Given the description of an element on the screen output the (x, y) to click on. 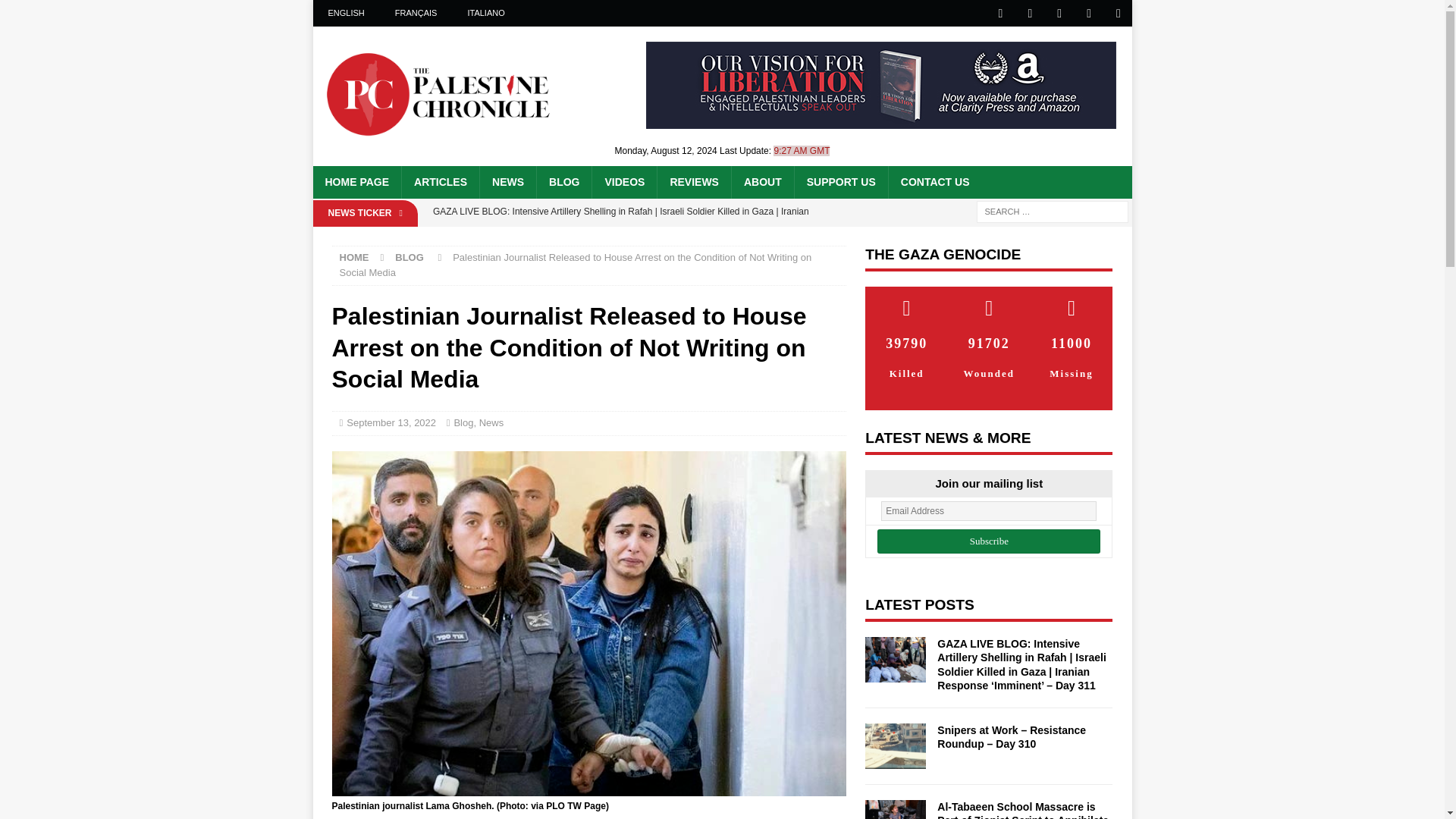
ARTICLES (440, 182)
HOME PAGE (357, 182)
VIDEOS (623, 182)
ITALIANO (485, 13)
ENGLISH (345, 13)
SUPPORT US (840, 182)
Search (56, 11)
CONTACT US (934, 182)
